Given the description of an element on the screen output the (x, y) to click on. 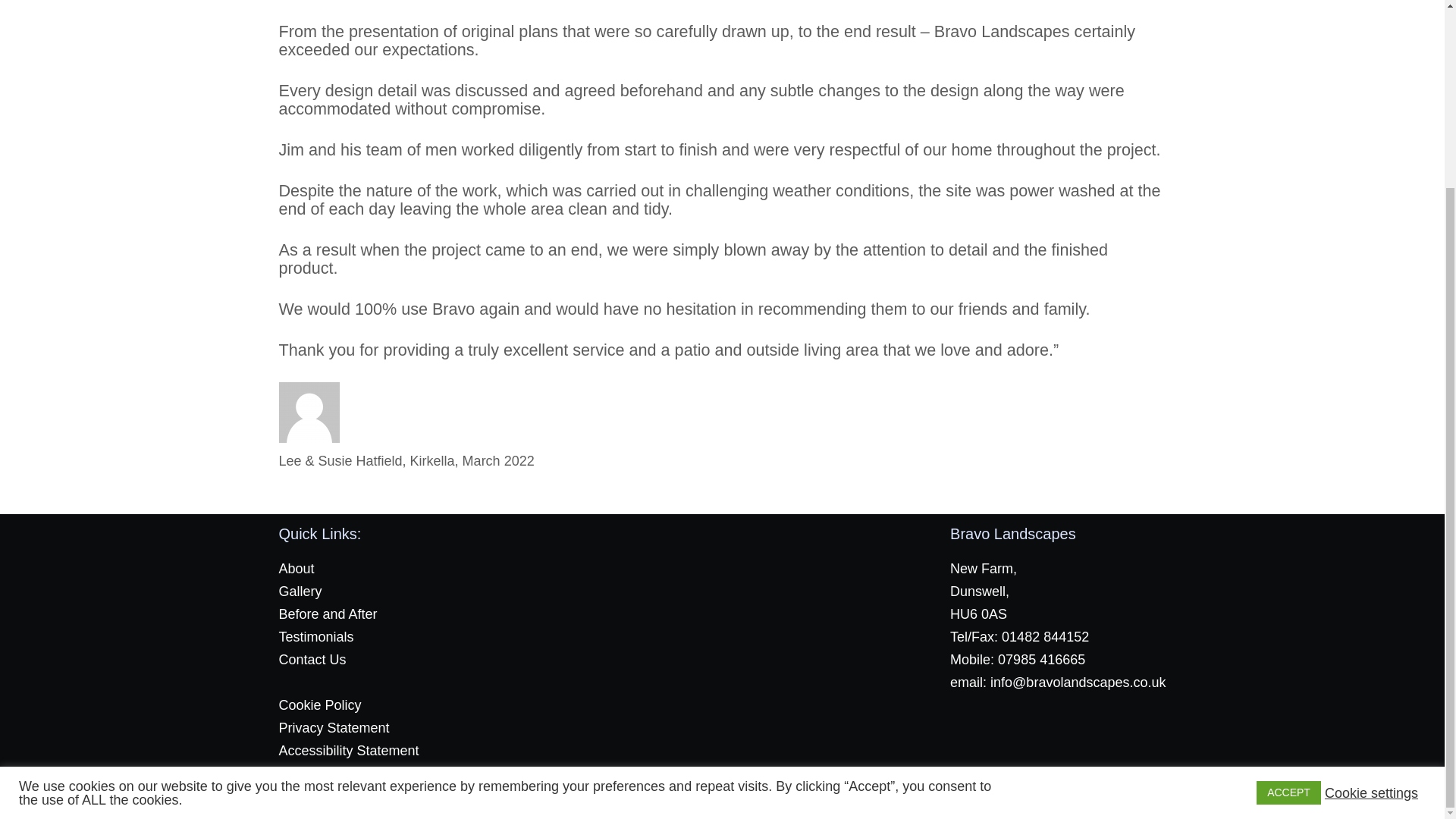
Indiesoft - Providing Value To Webdesign, build and hosting (751, 795)
ACCEPT (1288, 558)
Contact Us (312, 659)
Indiesoft Ltd (751, 795)
About (296, 568)
07985 416665 (1040, 659)
Cookie settings (1371, 558)
Gallery (300, 590)
01482 844152 (1045, 636)
Cookie Policy (320, 704)
Before and After (328, 613)
Accessibility Statement (349, 750)
Testimonials (316, 636)
Privacy Statement (334, 727)
